Given the description of an element on the screen output the (x, y) to click on. 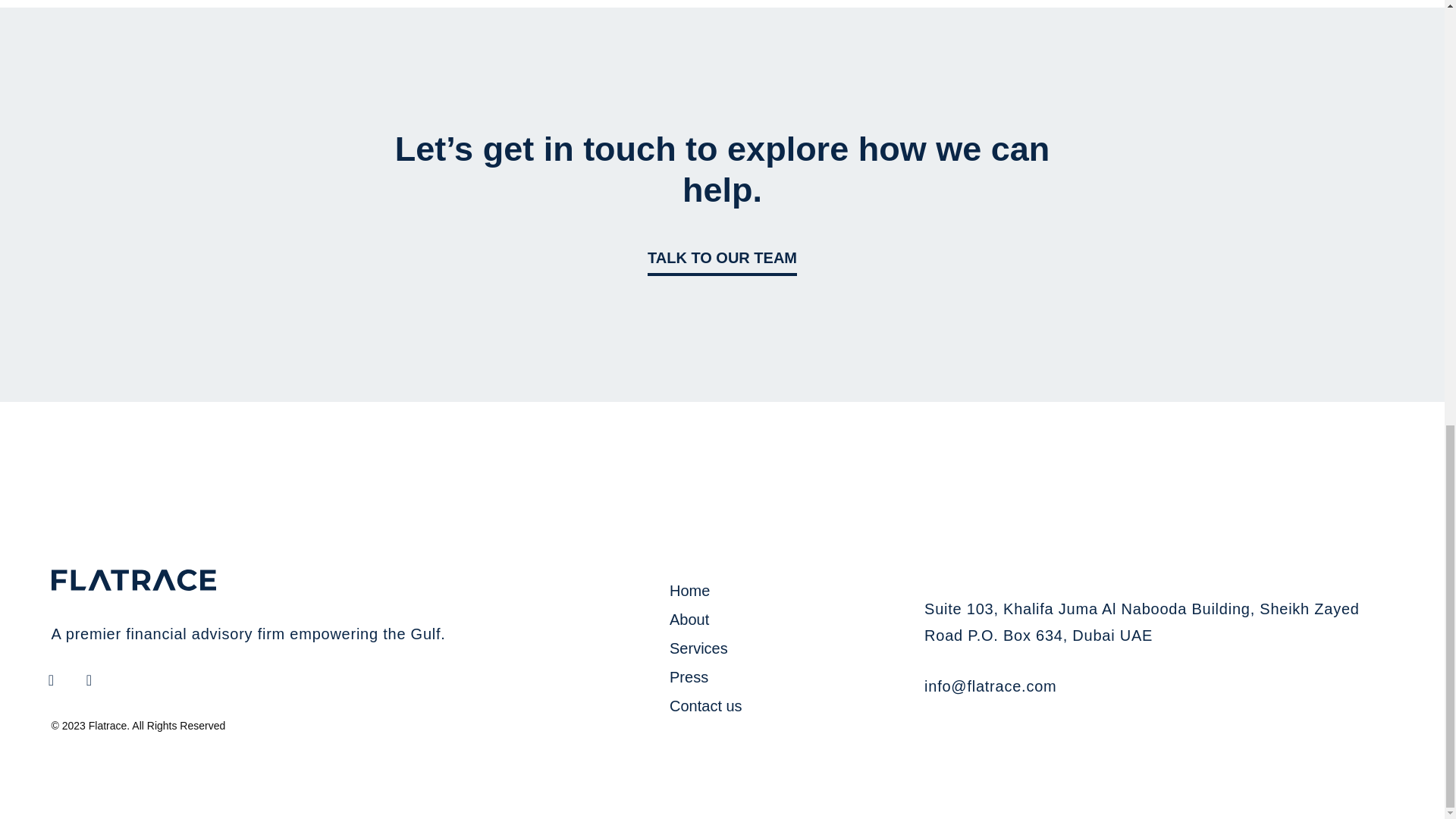
Contact us (788, 705)
About (788, 619)
Services (788, 648)
TALK TO OUR TEAM (721, 257)
Home (788, 590)
Press (788, 677)
